Given the description of an element on the screen output the (x, y) to click on. 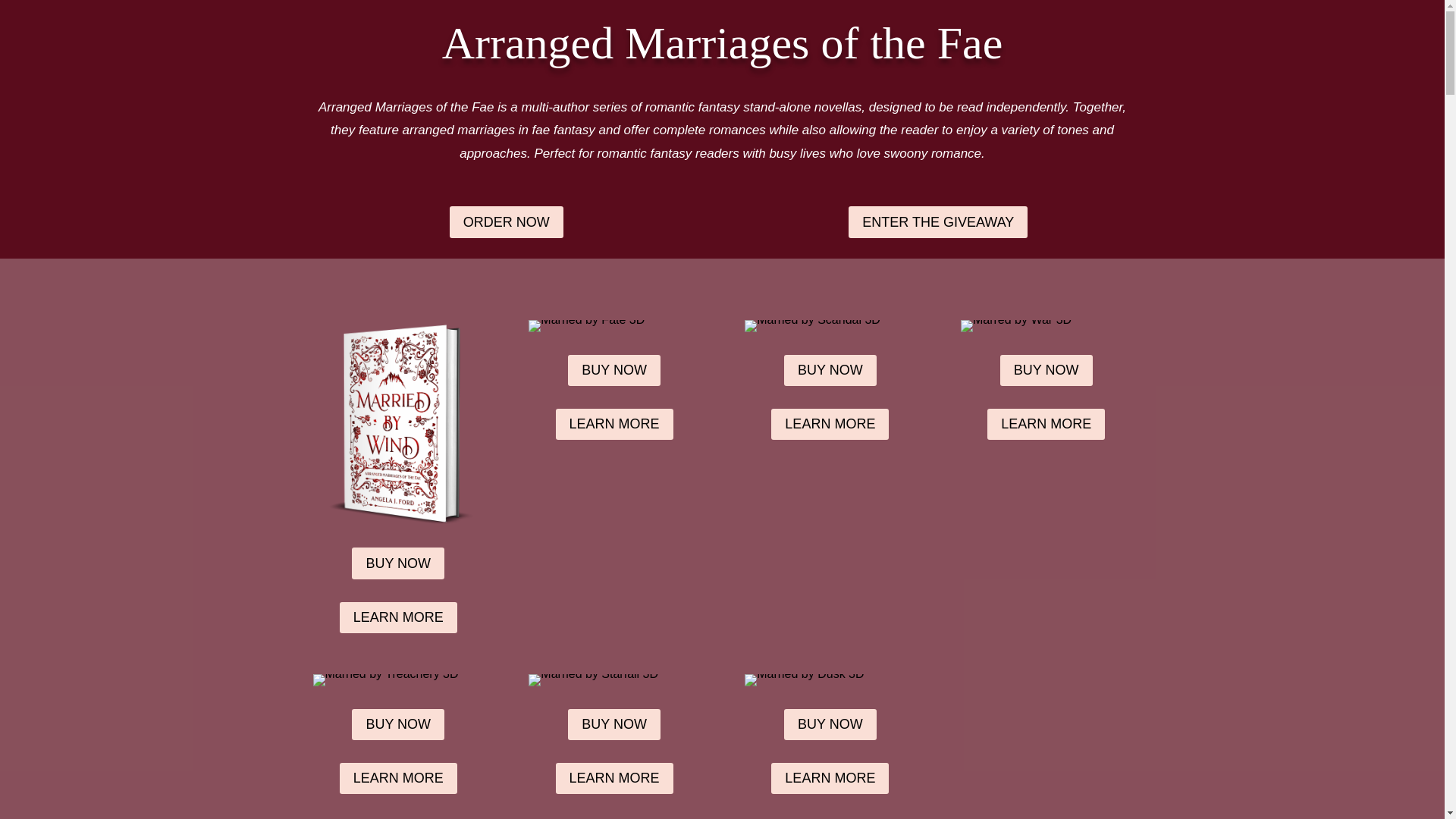
BUY NOW (830, 369)
Married by Dusk 3D (803, 680)
Married by Starfall 3D (593, 680)
Married by Fate 3D (586, 326)
LEARN MORE (1046, 423)
BUY NOW (1046, 369)
Married by Treachery 3D (385, 680)
BUY NOW (830, 724)
LEARN MORE (829, 777)
Marred by War 3D (1015, 326)
